Given the description of an element on the screen output the (x, y) to click on. 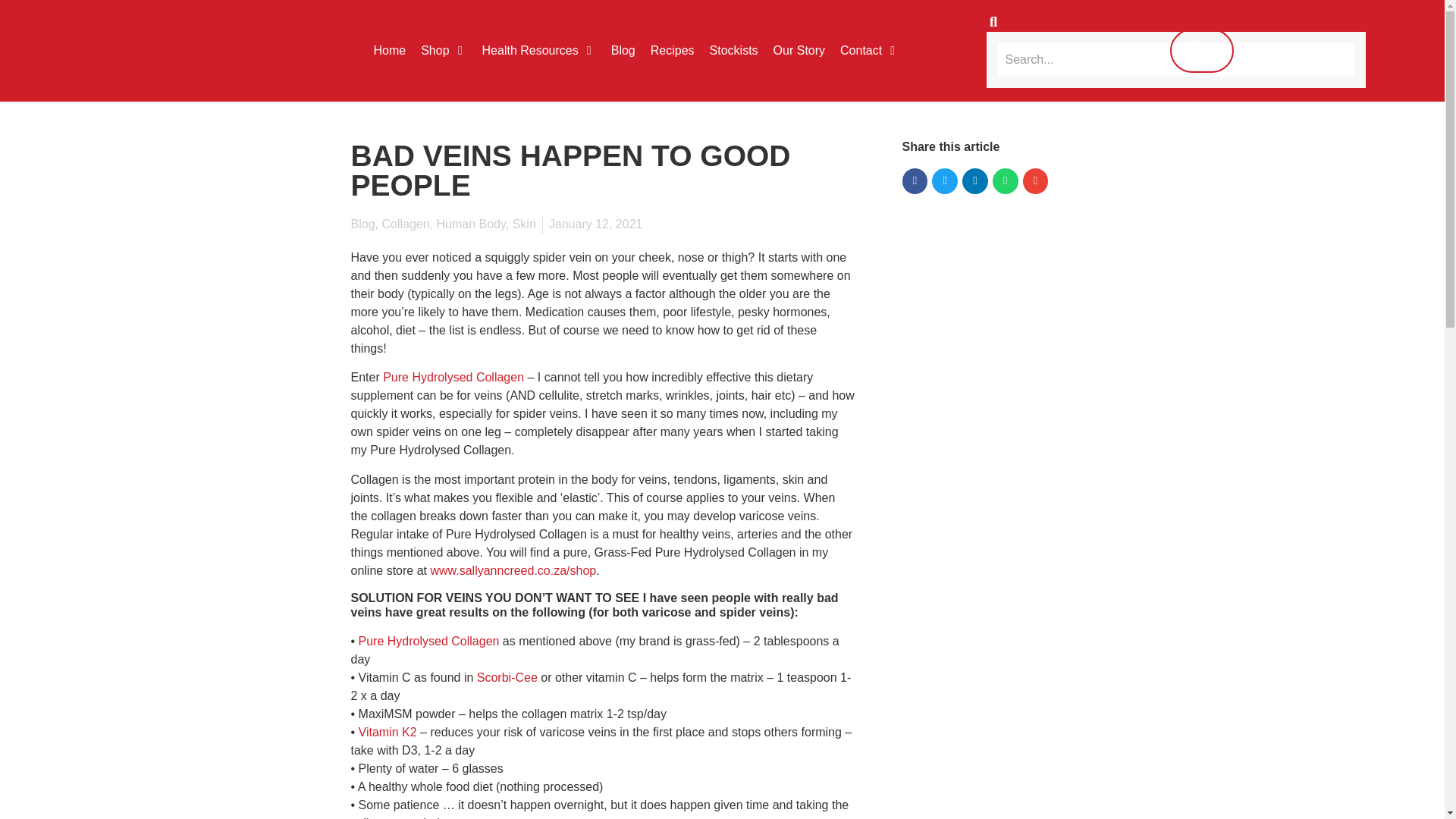
Shop (434, 50)
search-button (992, 21)
Home (389, 50)
Search (1175, 59)
